Given the description of an element on the screen output the (x, y) to click on. 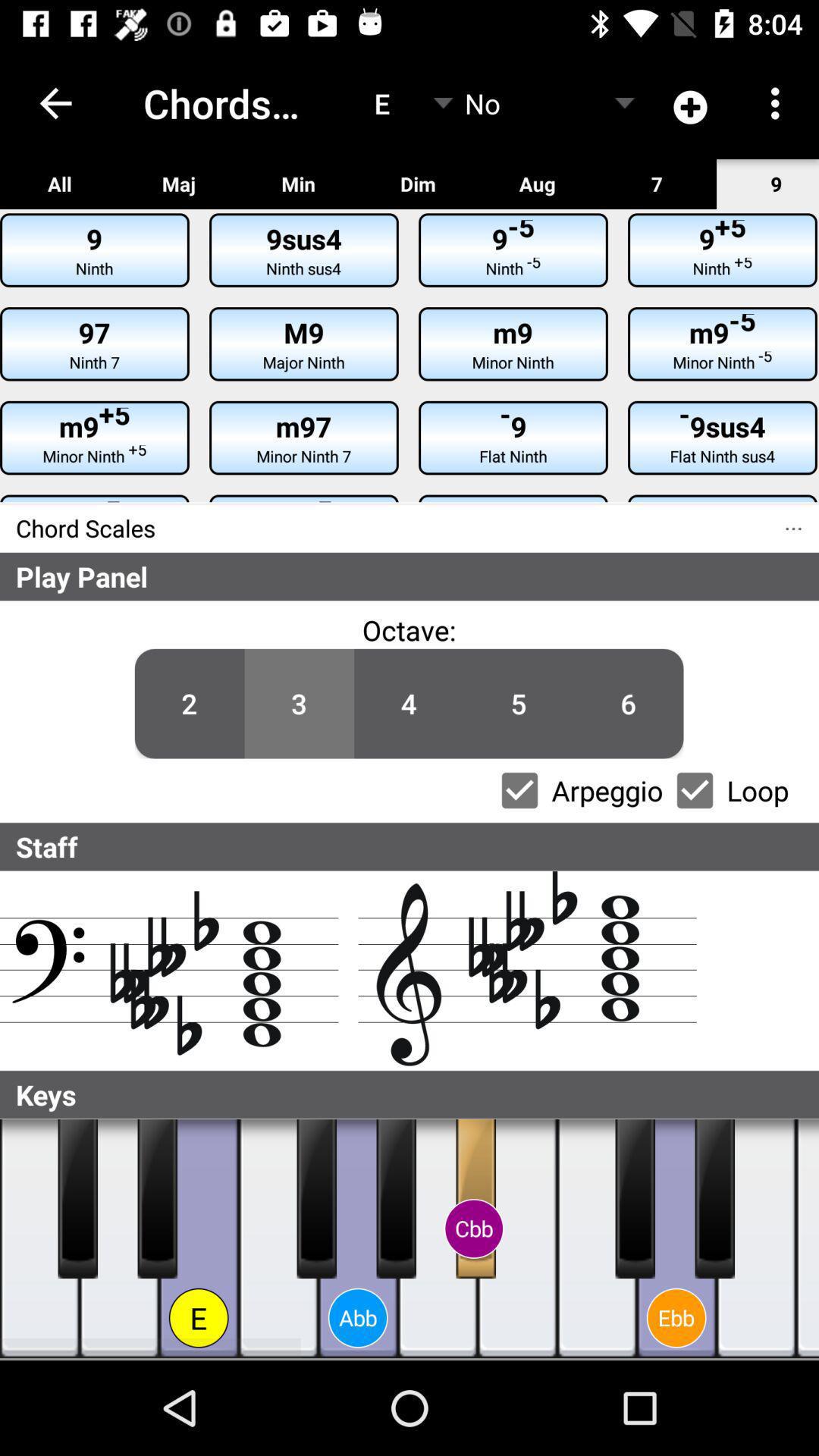
select the icon next to the loop icon (628, 703)
